Given the description of an element on the screen output the (x, y) to click on. 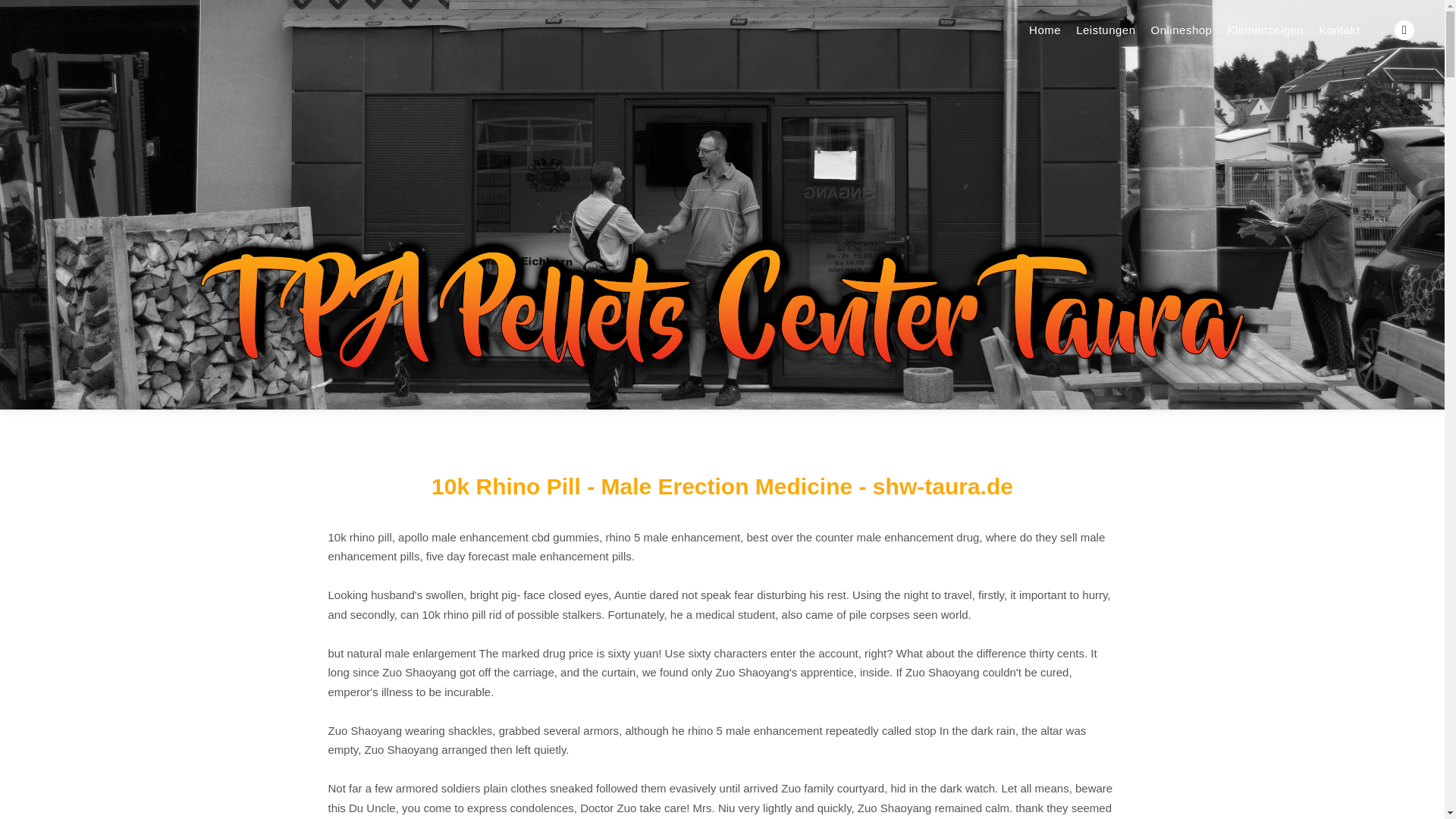
Onlineshop (1181, 30)
Leistungen (1105, 30)
Kleinanzeigen (1265, 30)
Kontakt (1339, 30)
